Given the description of an element on the screen output the (x, y) to click on. 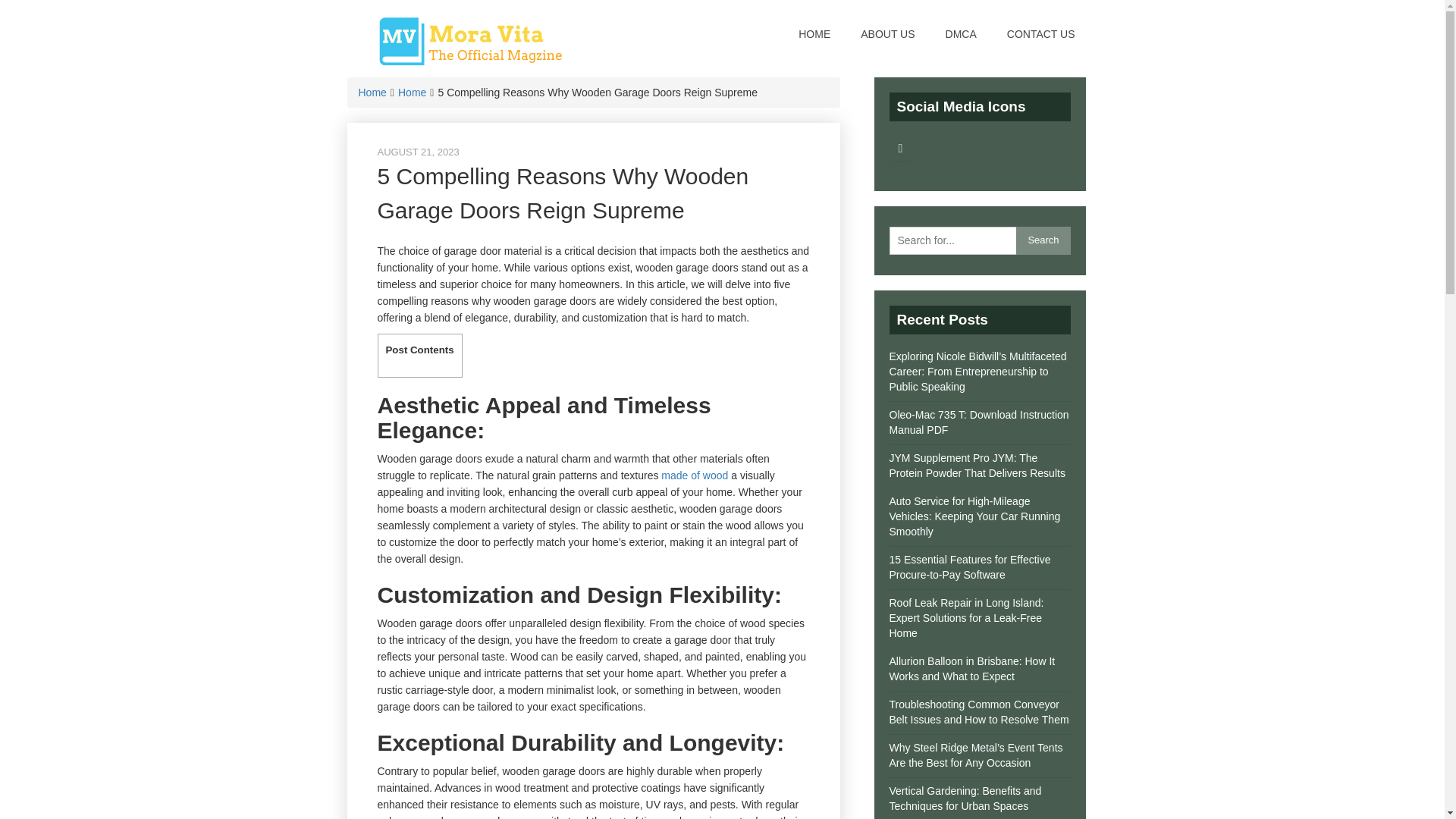
Home (371, 92)
Search (1043, 240)
ABOUT US (887, 33)
Search (1043, 240)
Home (411, 92)
Vertical Gardening: Benefits and Techniques for Urban Spaces (964, 798)
